Given the description of an element on the screen output the (x, y) to click on. 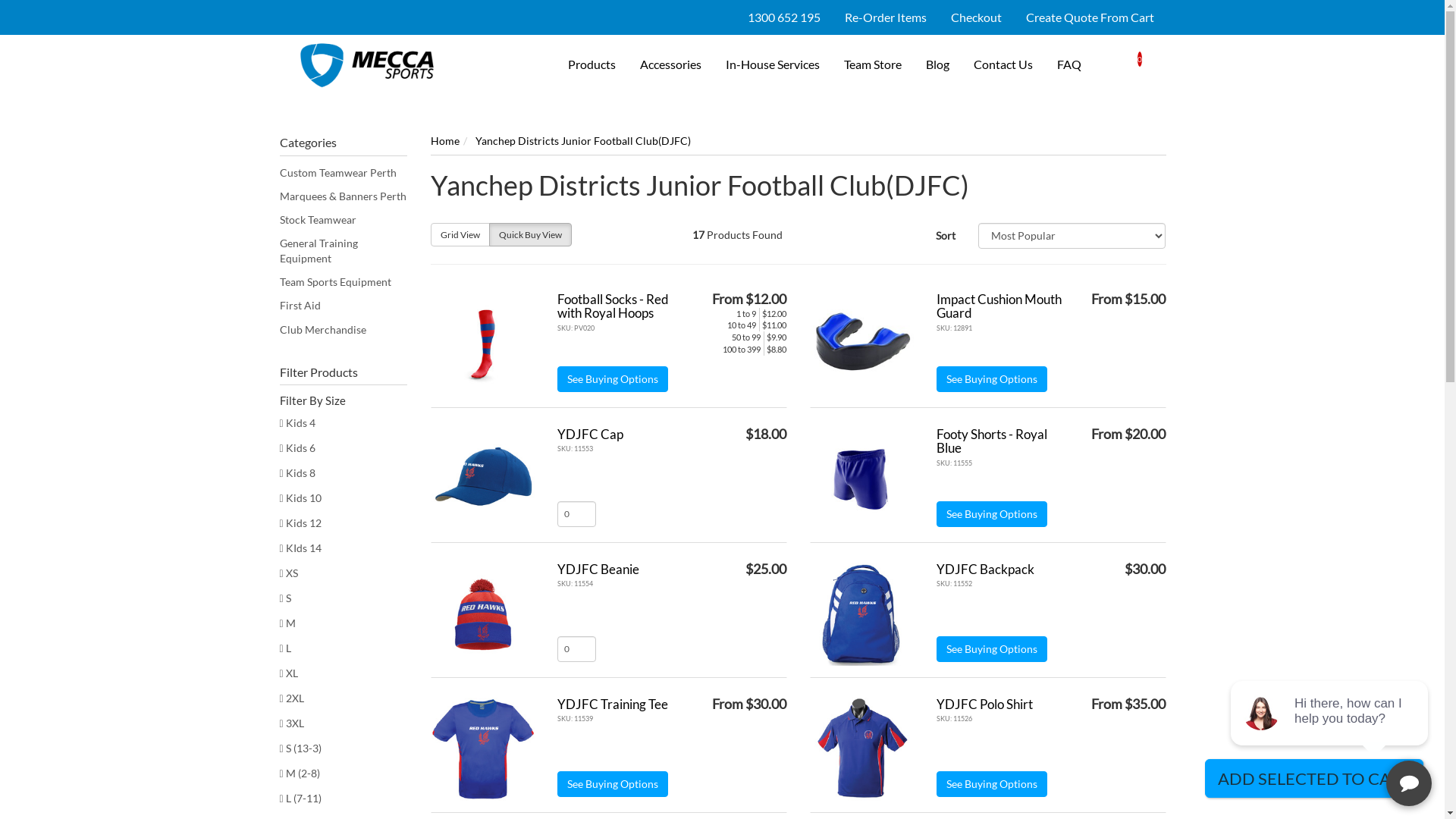
Marquees & Banners Perth Element type: text (342, 196)
Re-Order Items Element type: text (885, 17)
Club Merchandise Element type: text (342, 329)
S Element type: text (342, 598)
Kids 10 Element type: text (342, 498)
See Buying Options Element type: text (611, 784)
Yanchep Districts Junior Football Club(DJFC) Element type: text (582, 140)
YDJFC Cap Element type: text (589, 434)
Checkout Element type: text (975, 17)
XS Element type: text (342, 573)
See Buying Options Element type: text (990, 649)
1300 652 195 Element type: text (783, 17)
FAQ Element type: text (1068, 64)
Team Sports Equipment Element type: text (342, 281)
ADD SELECTED TO CART Element type: text (1313, 778)
General Training Equipment Element type: text (342, 250)
See Buying Options Element type: text (990, 784)
YDJFC Beanie Element type: text (597, 569)
In-House Services Element type: text (771, 64)
Create Quote From Cart Element type: text (1089, 17)
YDJFC Polo Shirt Element type: text (983, 704)
Home Element type: text (444, 140)
L (7-11) Element type: text (342, 798)
0 Element type: text (1129, 57)
See Buying Options Element type: text (990, 379)
M Element type: text (342, 623)
Quick Buy View Element type: text (529, 234)
XL Element type: text (342, 673)
Team Store Element type: text (872, 64)
Stock Teamwear Element type: text (342, 219)
Blog Element type: text (936, 64)
Contact Us Element type: text (1002, 64)
KIds 14 Element type: text (342, 548)
First Aid Element type: text (342, 305)
Kids 12 Element type: text (342, 523)
Custom Teamwear Perth Element type: text (342, 172)
Mecca Sports Element type: hover (367, 63)
Kids 4 Element type: text (342, 423)
Impact Cushion Mouth Guard Element type: text (997, 306)
See Buying Options Element type: text (990, 514)
3XL Element type: text (342, 723)
Grid View Element type: text (459, 234)
YDJFC Backpack Element type: text (984, 569)
Football Socks - Red with Royal Hoops Element type: text (612, 306)
Products Element type: text (591, 64)
YDJFC Training Tee Element type: text (611, 704)
Mecca Sports Element type: hover (366, 64)
S (13-3) Element type: text (342, 748)
L Element type: text (342, 648)
2XL Element type: text (342, 698)
Footy Shorts - Royal Blue Element type: text (990, 441)
Filter Products Element type: text (342, 372)
See Buying Options Element type: text (611, 379)
M (2-8) Element type: text (342, 773)
Kids 6 Element type: text (342, 448)
Accessories Element type: text (670, 64)
Kids 8 Element type: text (342, 473)
